Given the description of an element on the screen output the (x, y) to click on. 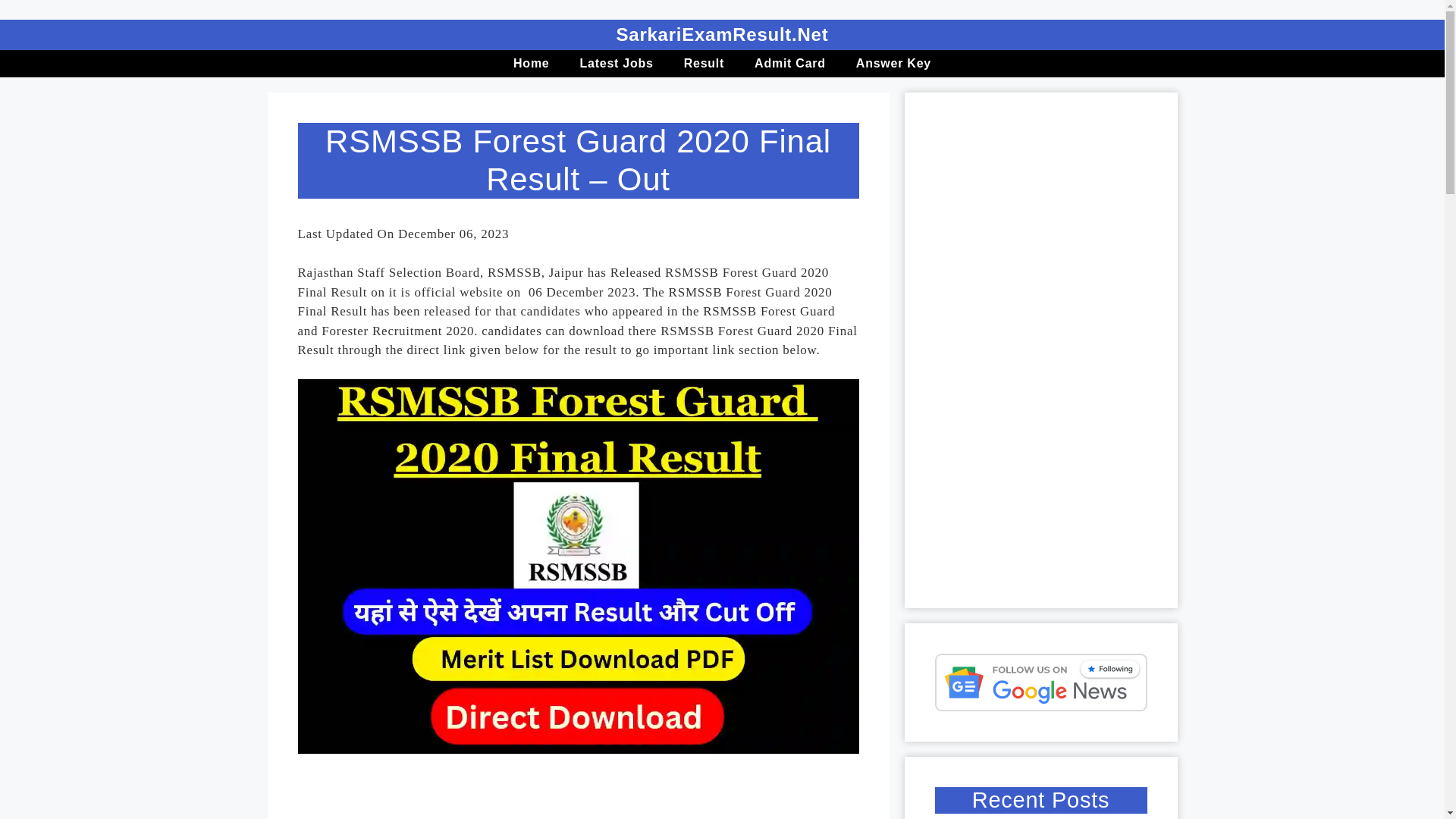
Answer Key (893, 63)
Advertisement (608, 796)
Home (530, 63)
Result (703, 63)
Admit Card (790, 63)
Latest Jobs (616, 63)
